Given the description of an element on the screen output the (x, y) to click on. 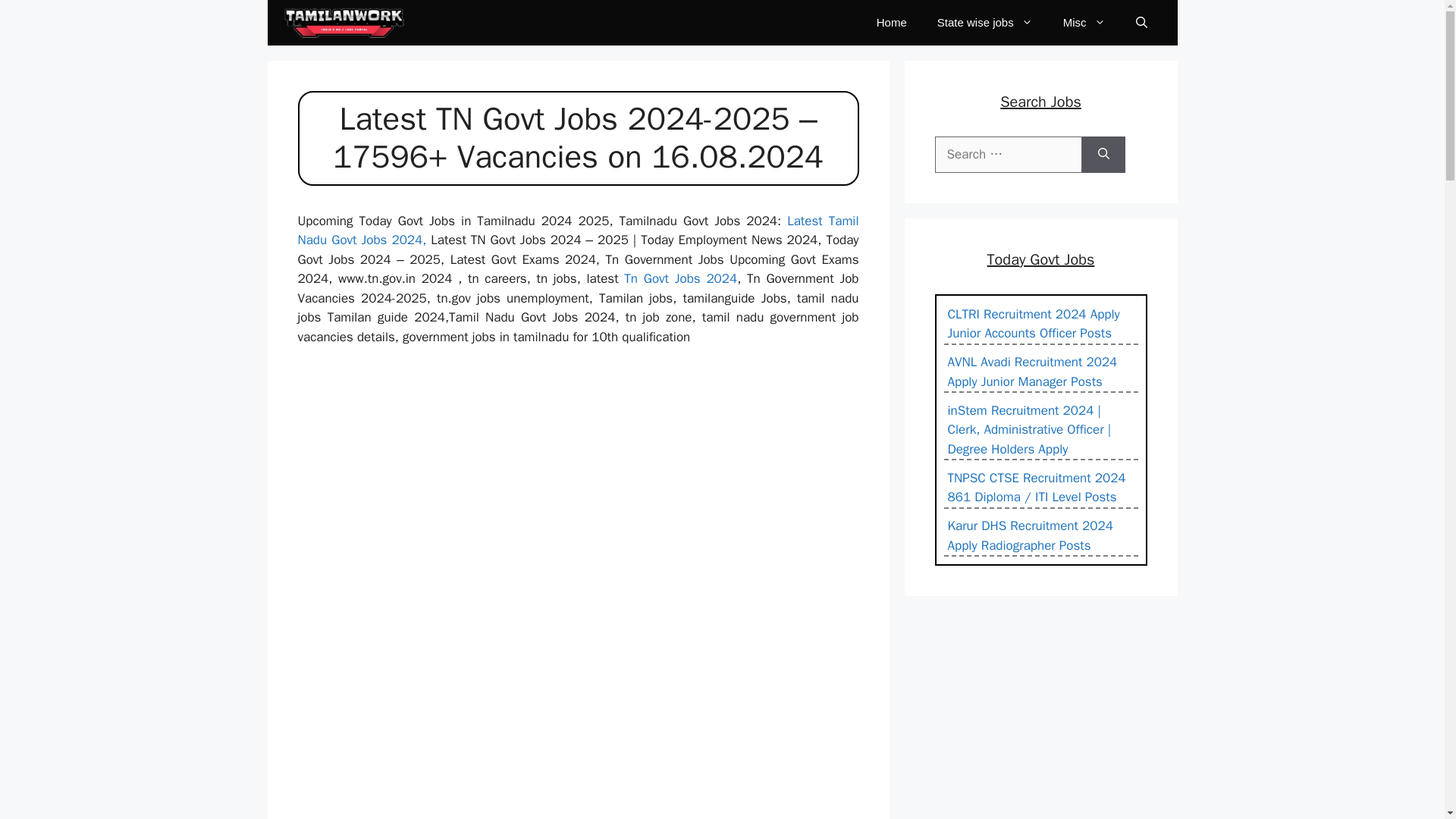
Advertisement (584, 703)
TN Govt Jobs 2024 (342, 22)
Home (891, 22)
State wise jobs (984, 22)
